Given the description of an element on the screen output the (x, y) to click on. 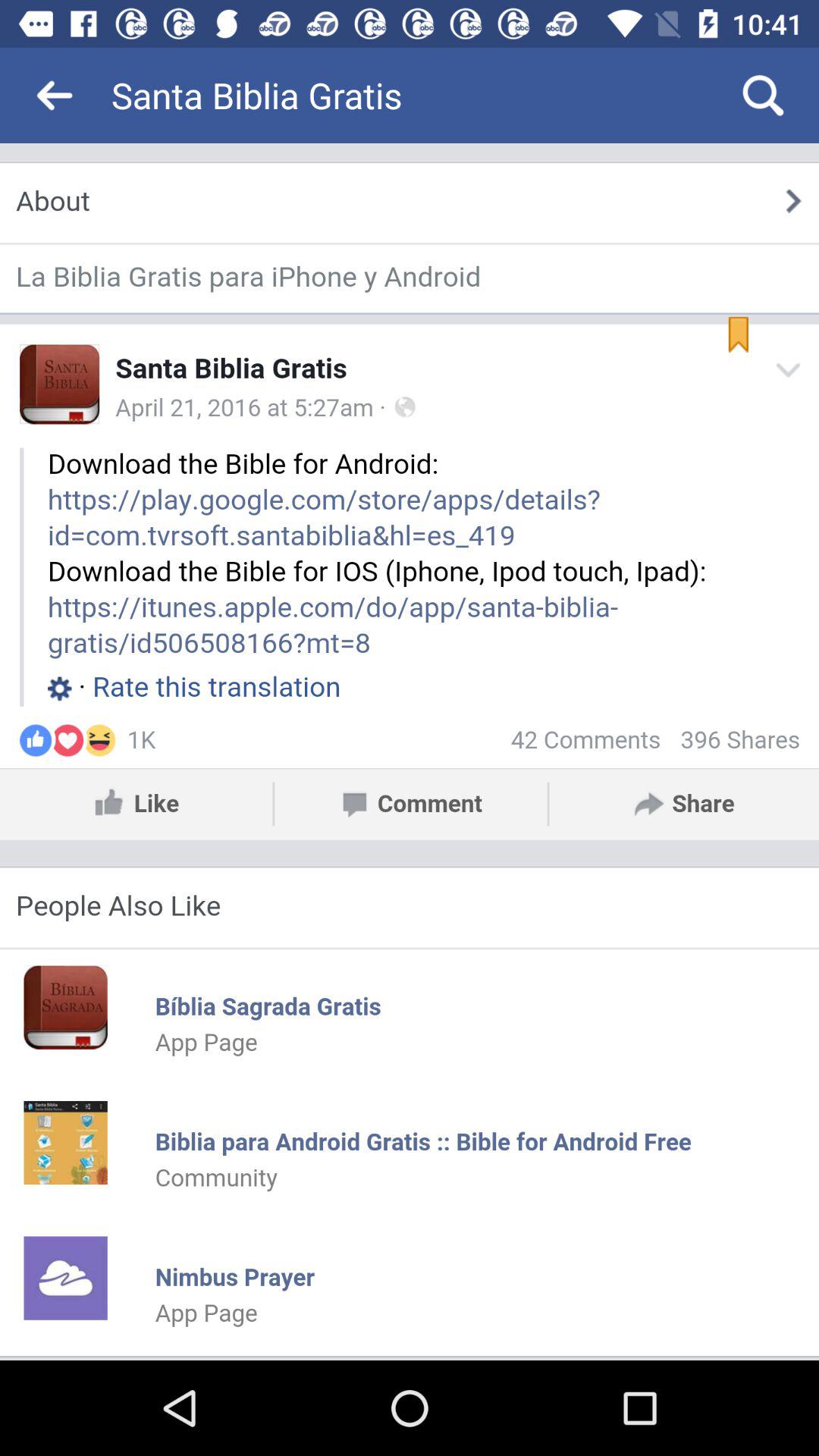
choose the icon next to santa biblia gratis icon (55, 95)
